Given the description of an element on the screen output the (x, y) to click on. 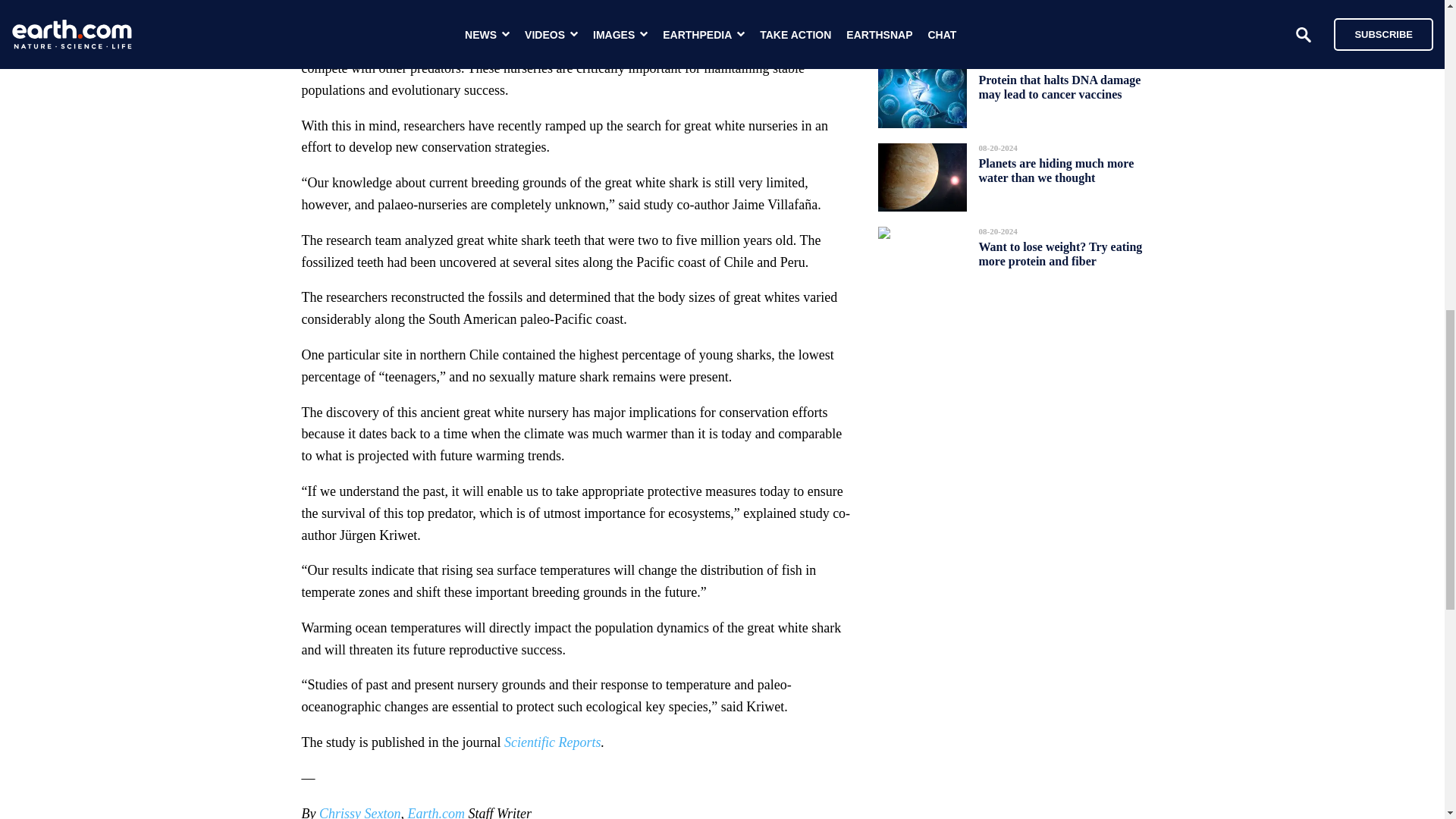
Scientific Reports (551, 742)
Earth.com (435, 812)
Want to lose weight? Try eating more protein and fiber (1059, 253)
Chrissy Sexton (359, 812)
Protein that halts DNA damage may lead to cancer vaccines (1059, 87)
Planets are hiding much more water than we thought (1056, 170)
